Given the description of an element on the screen output the (x, y) to click on. 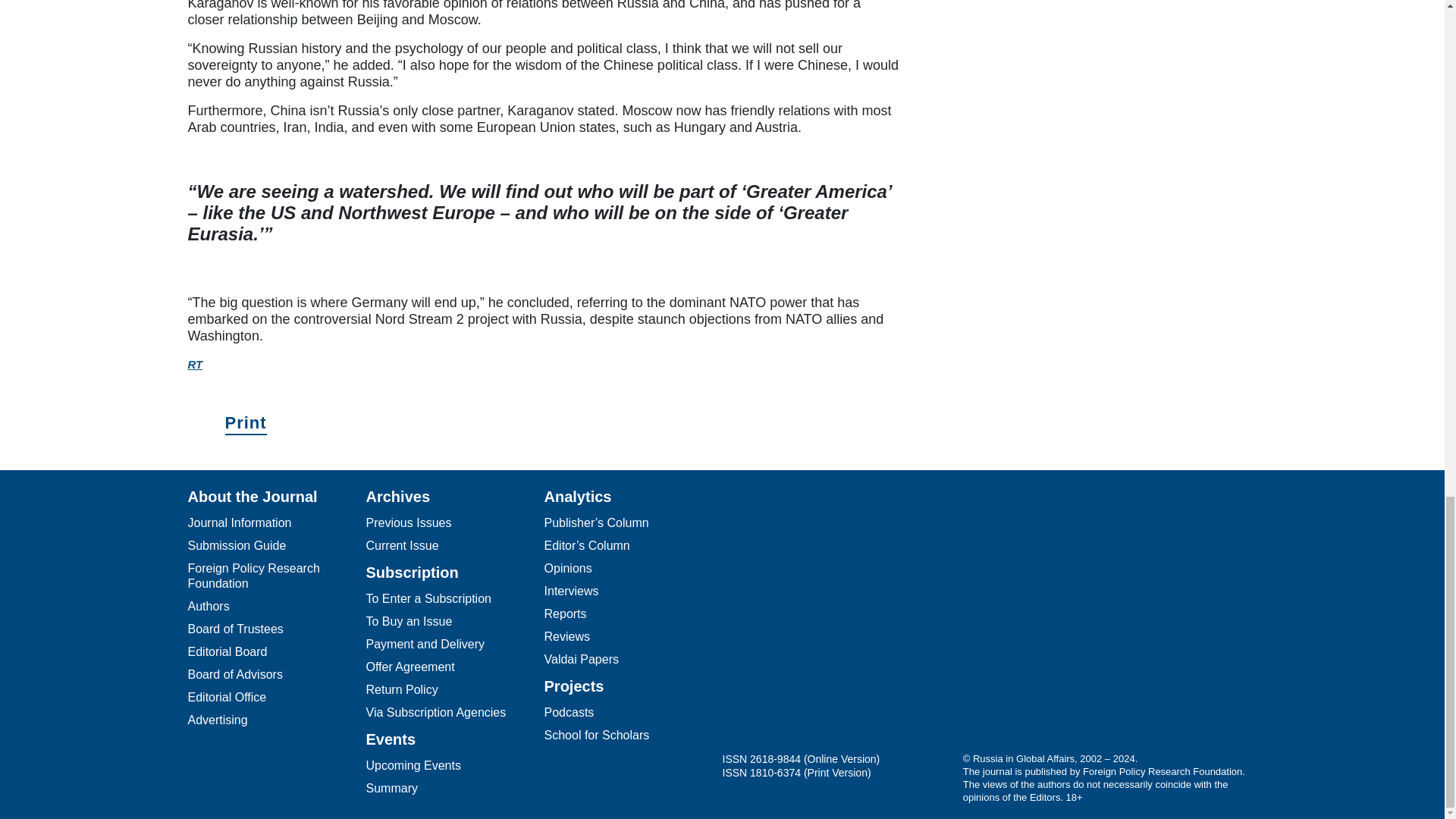
Telegram (744, 627)
Vkontakte (865, 627)
RSS (926, 627)
Twitter (805, 627)
